Given the description of an element on the screen output the (x, y) to click on. 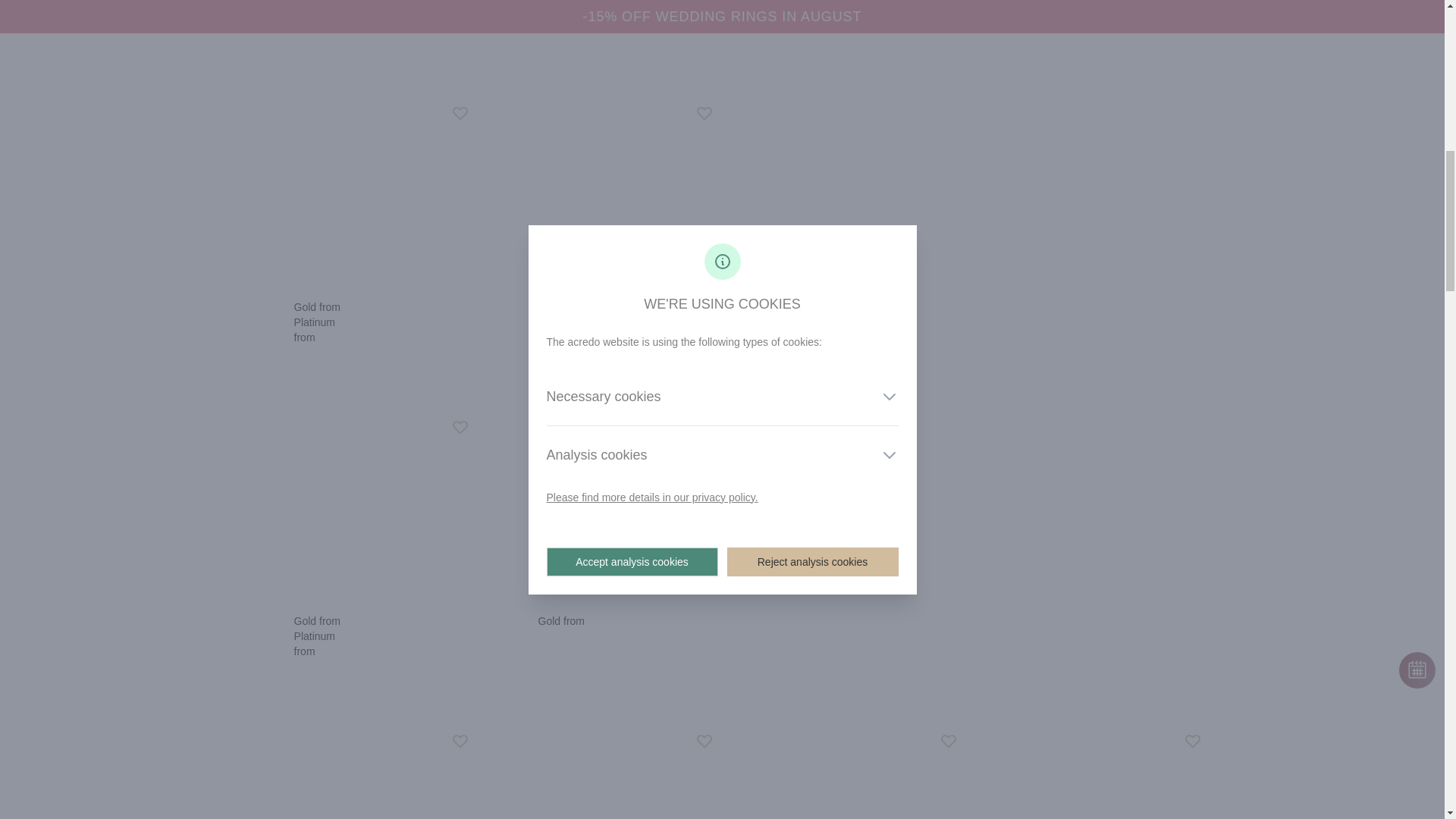
A-2076-1 (599, 506)
S-1271-5 (599, 772)
A-2344-2 (844, 772)
A-1602-1 (1087, 772)
A-2342-1 (354, 192)
A-2346-6 (354, 506)
S-1291-1 (354, 772)
A-2345-2 (599, 192)
